Given the description of an element on the screen output the (x, y) to click on. 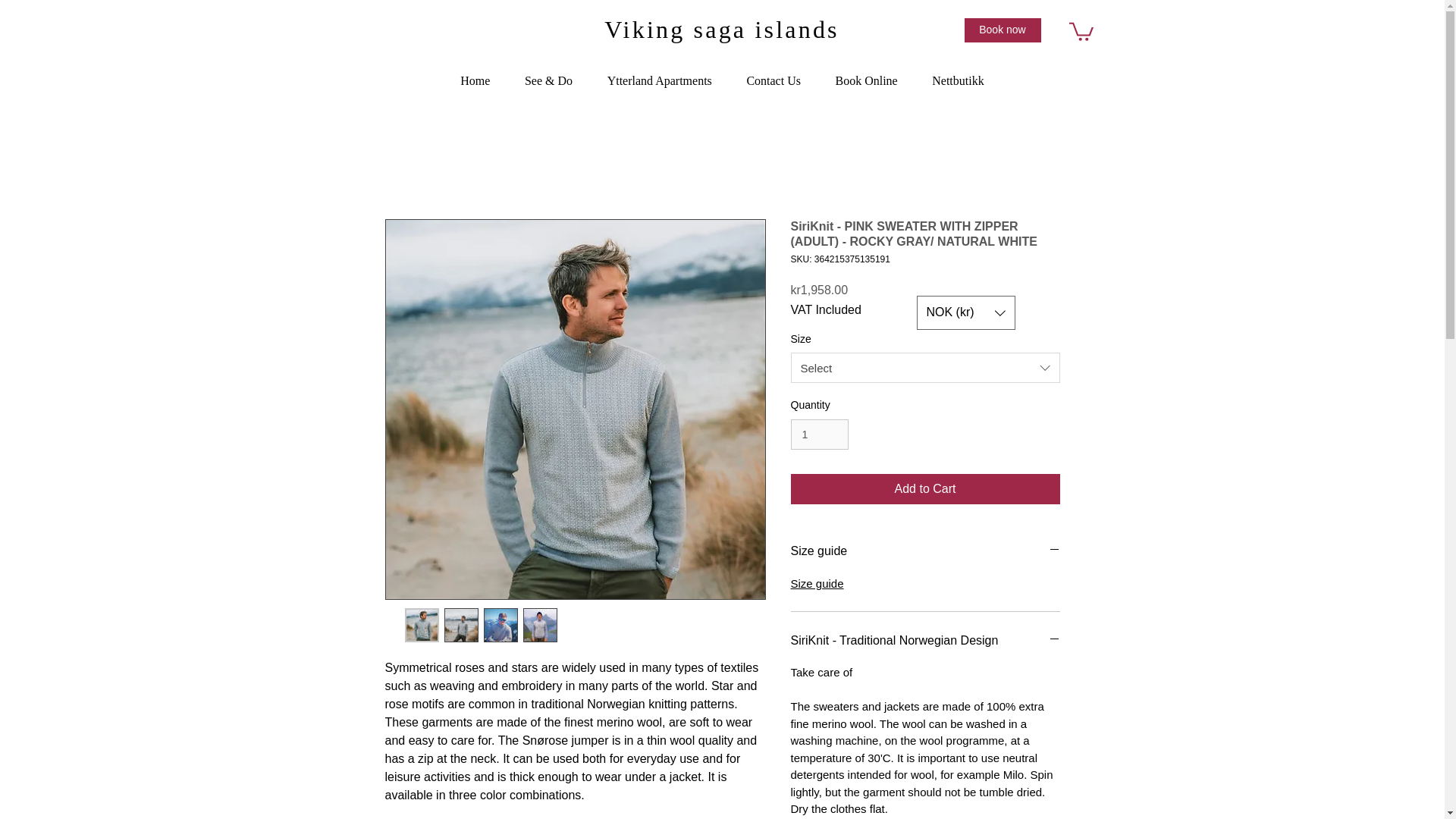
Add to Cart (924, 489)
Viking saga islands (722, 29)
Nettbutikk (957, 79)
1 (818, 434)
Home (474, 79)
Contact Us (773, 79)
Size guide (924, 551)
SiriKnit - Traditional Norwegian Design (924, 640)
Ytterland Apartments (659, 79)
Book Online (866, 79)
